Given the description of an element on the screen output the (x, y) to click on. 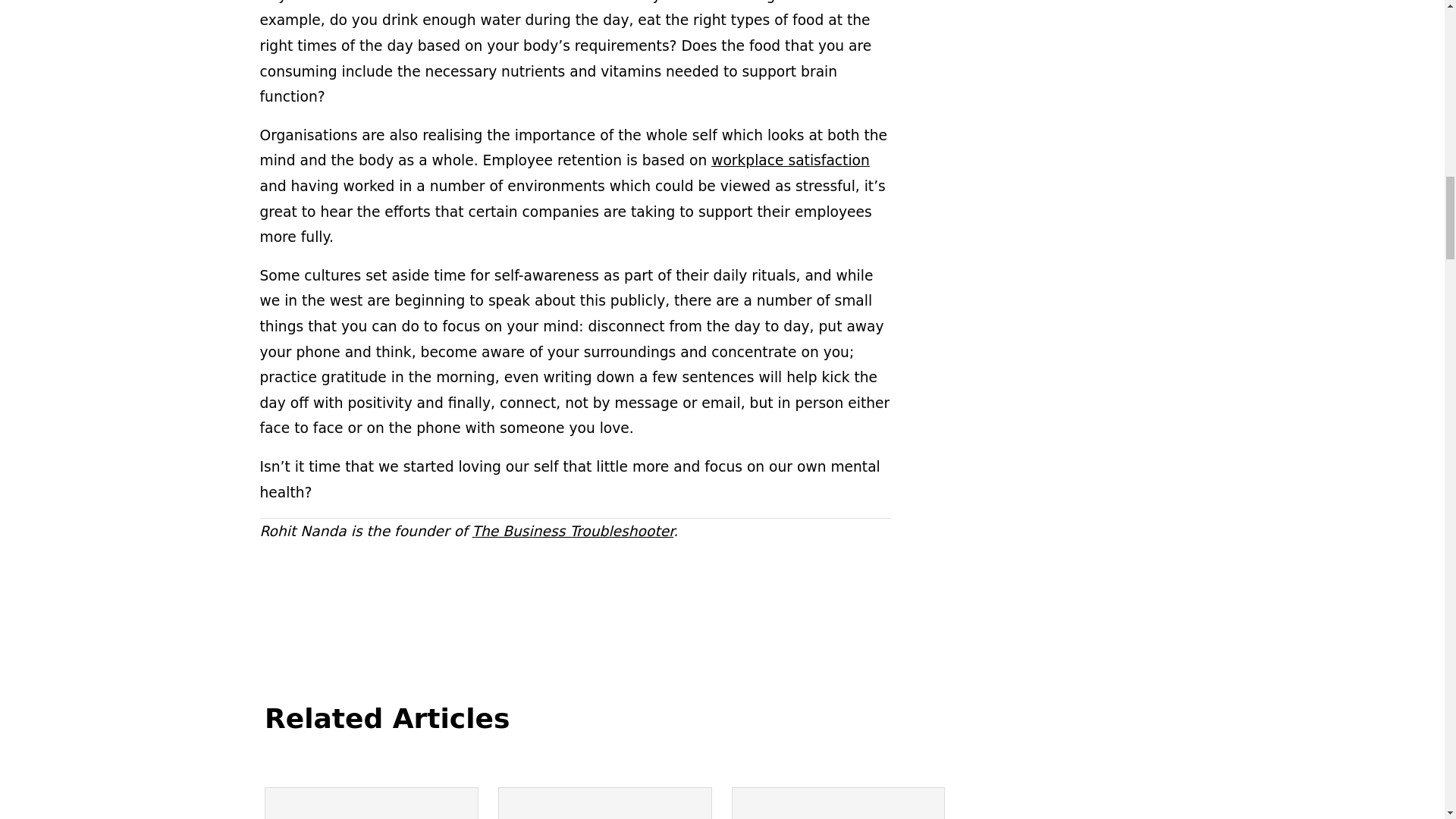
The New Tiger Moped Style Electric Bike (370, 803)
